Given the description of an element on the screen output the (x, y) to click on. 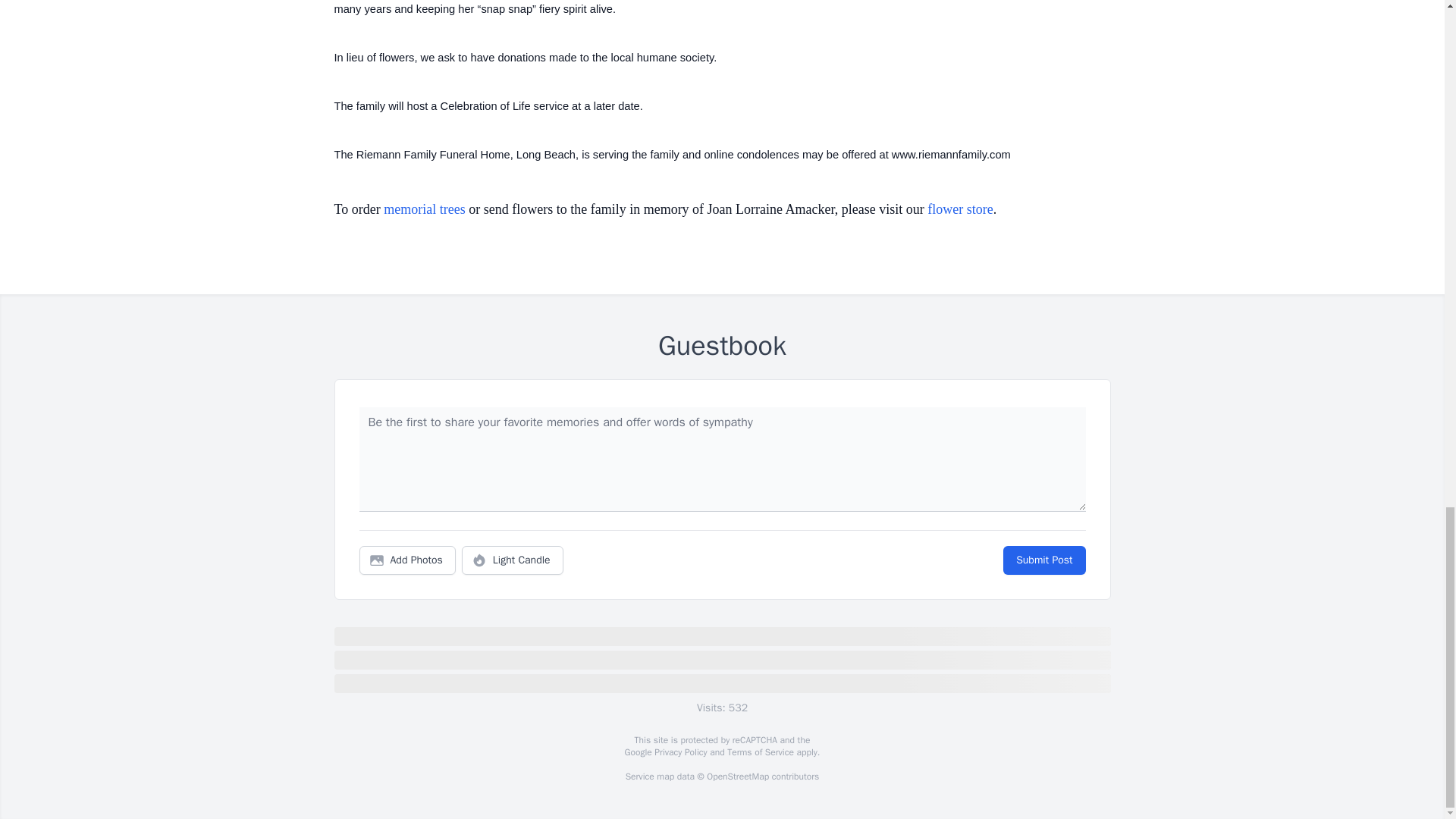
Add Photos (407, 560)
OpenStreetMap (737, 776)
Light Candle (512, 560)
Submit Post (1043, 560)
Terms of Service (759, 752)
flower store (959, 209)
Privacy Policy (679, 752)
memorial trees (424, 209)
